Given the description of an element on the screen output the (x, y) to click on. 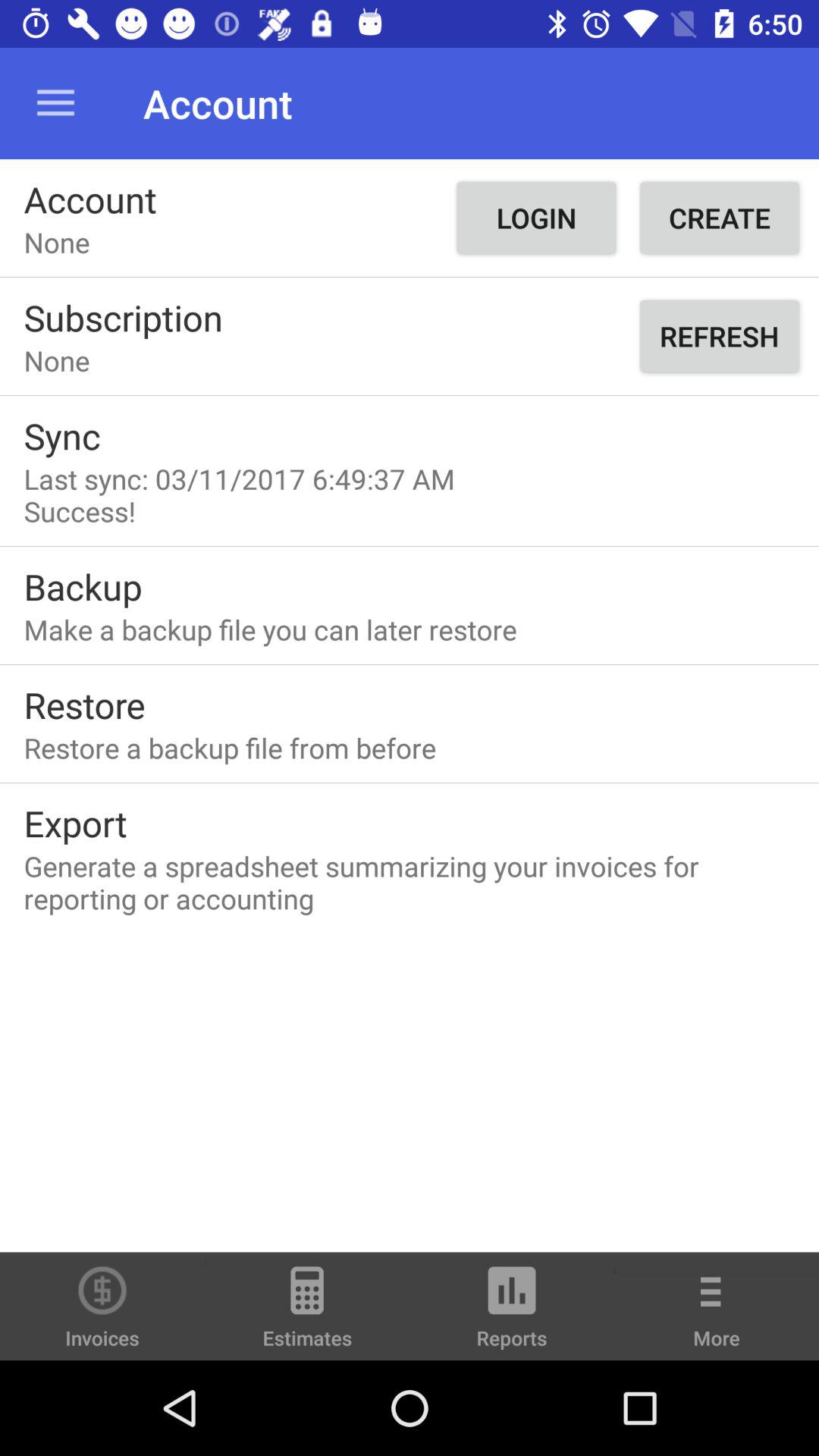
click the more item (716, 1317)
